Given the description of an element on the screen output the (x, y) to click on. 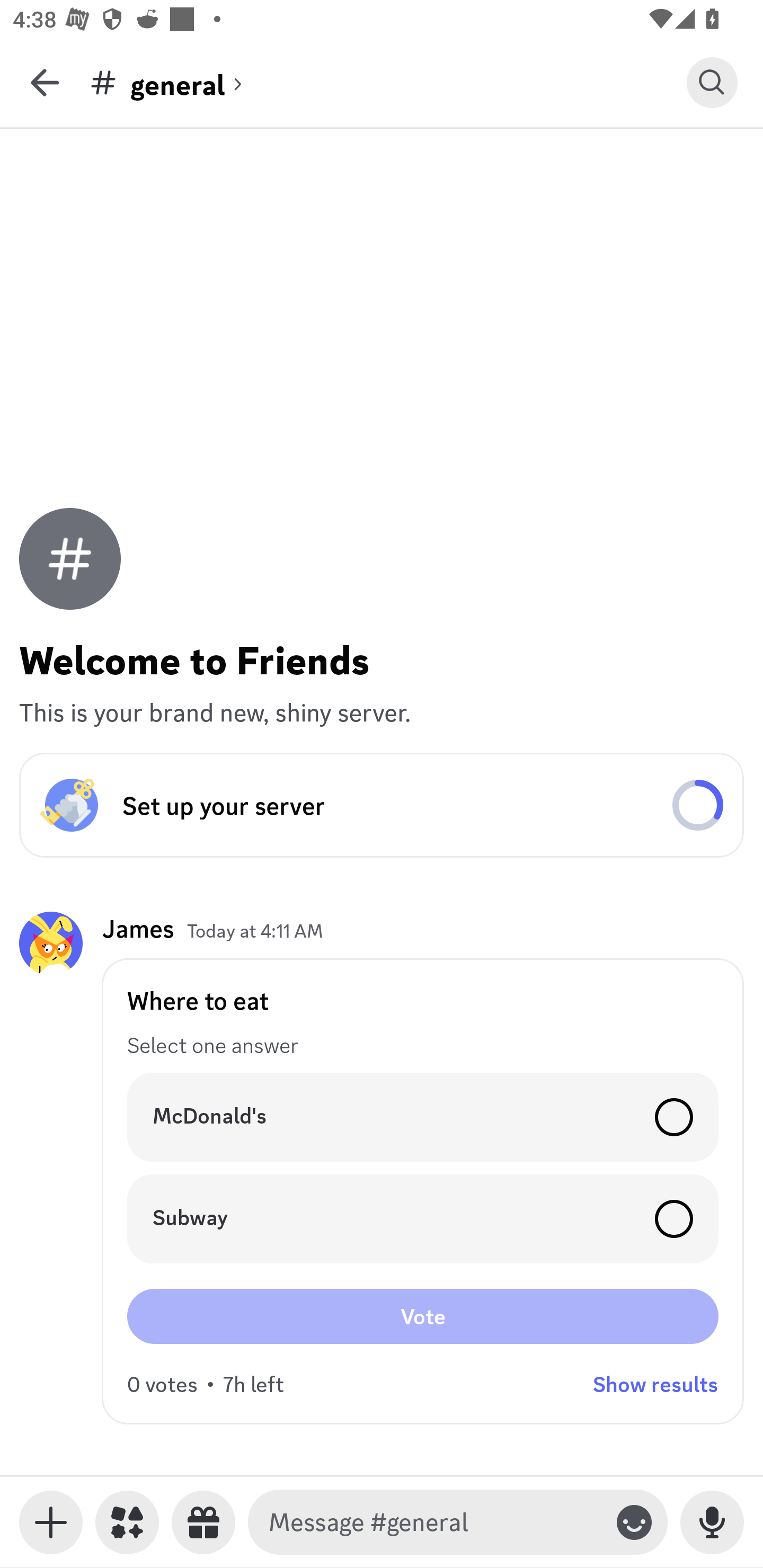
general (channel) general general (channel) (387, 82)
Back (44, 82)
Search (711, 82)
Set up your server (381, 804)
James (137, 928)
McDonald's (422, 1116)
Subway (422, 1218)
Vote (422, 1315)
0 votes  •  7h left (205, 1383)
Show results (655, 1383)
Message #general Toggle emoji keyboard (457, 1522)
Toggle media keyboard (50, 1522)
Apps (126, 1522)
Send a gift (203, 1522)
Record Voice Message (711, 1522)
Toggle emoji keyboard (634, 1522)
